Given the description of an element on the screen output the (x, y) to click on. 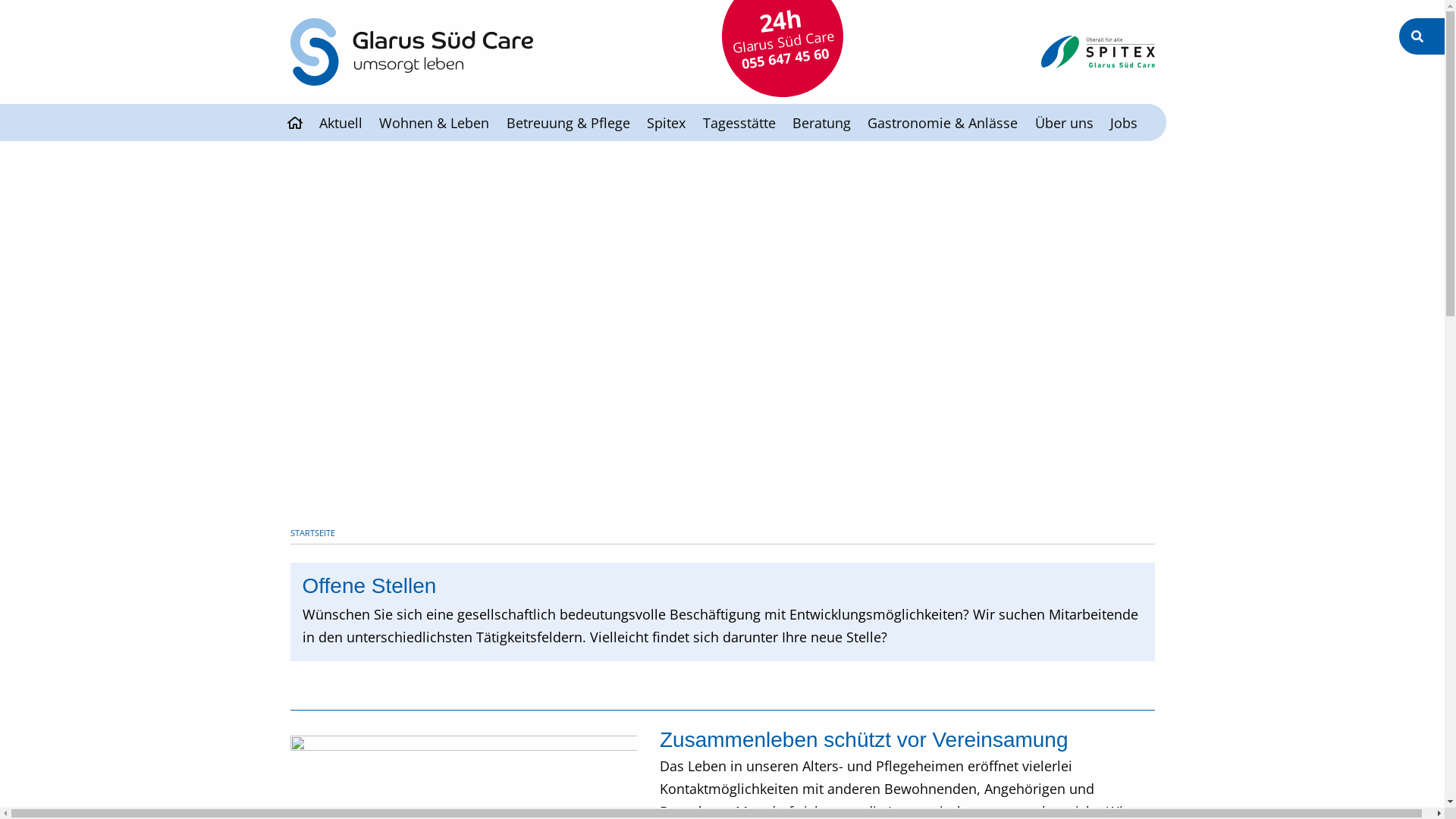
Betreuung & Pflege Element type: text (568, 122)
STARTSEITE Element type: text (311, 532)
Wohnen & Leben Element type: text (433, 122)
Aktuell Element type: text (340, 122)
Spitex Element type: text (665, 122)
Beratung Element type: text (821, 122)
Jobs Element type: text (1123, 122)
